Given the description of an element on the screen output the (x, y) to click on. 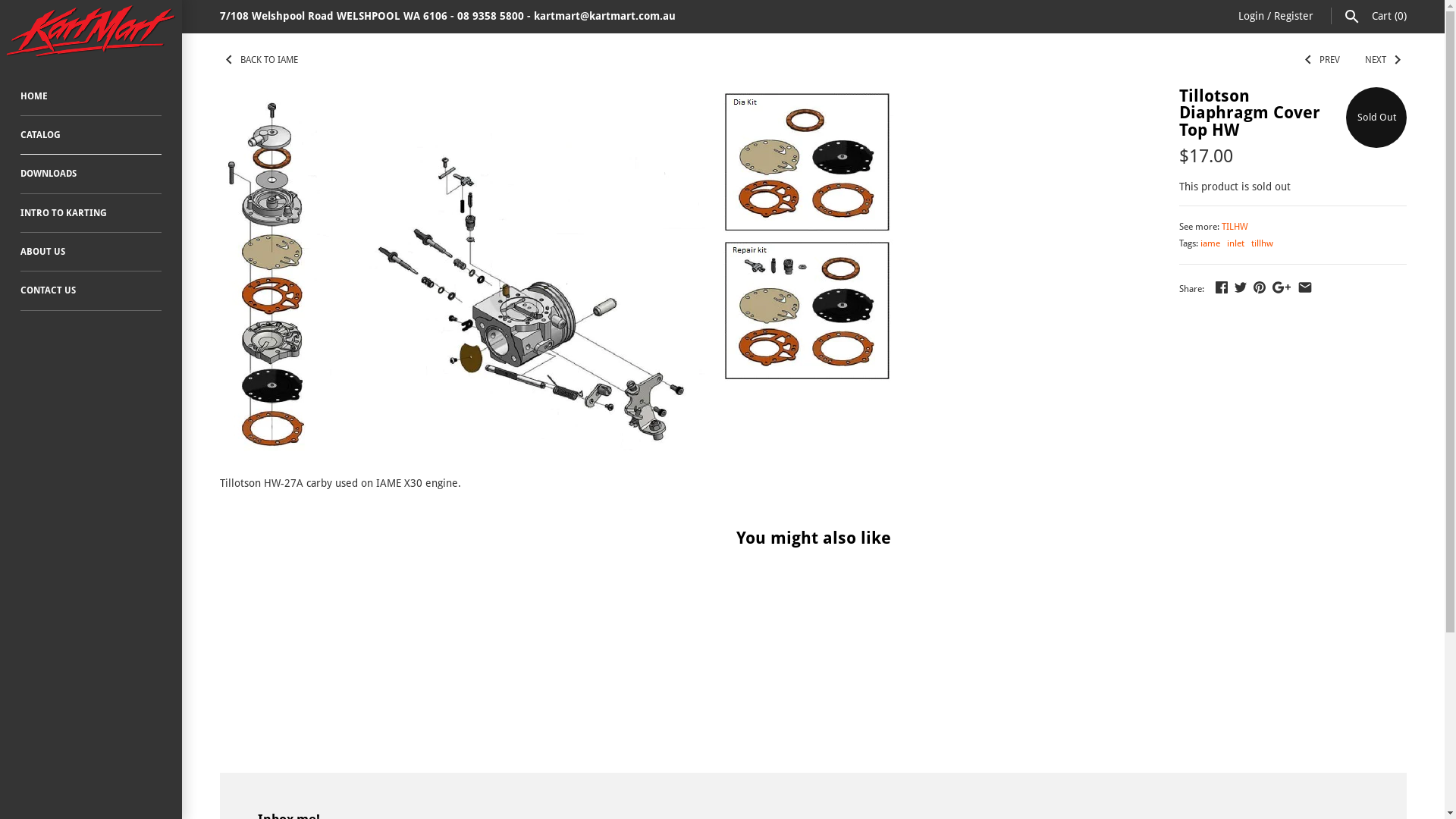
Pinterest Element type: text (1259, 287)
GooglePlus Element type: text (1281, 287)
CONTACT US Element type: text (90, 290)
ABOUT US Element type: text (90, 251)
DOWNLOADS Element type: text (90, 173)
Register Element type: text (1293, 15)
LEFT BACK TO IAME Element type: text (258, 58)
KartMart Pty Ltd Element type: hover (91, 31)
Search Element type: text (1352, 15)
LEFT PREV Element type: text (1320, 58)
Twitter Element type: text (1240, 287)
INTRO TO KARTING Element type: text (90, 213)
Email Element type: text (1304, 287)
TILHW Element type: text (1234, 226)
inlet Element type: text (1235, 243)
Cart (0) Element type: text (1388, 15)
Login Element type: text (1251, 15)
Facebook Element type: text (1221, 287)
tillhw Element type: text (1262, 243)
CATALOG Element type: text (90, 135)
HOME Element type: text (90, 96)
Tillotson Diaphragm Cover Top HW Element type: hover (556, 95)
iame Element type: text (1210, 243)
NEXT RIGHT Element type: text (1385, 58)
